Given the description of an element on the screen output the (x, y) to click on. 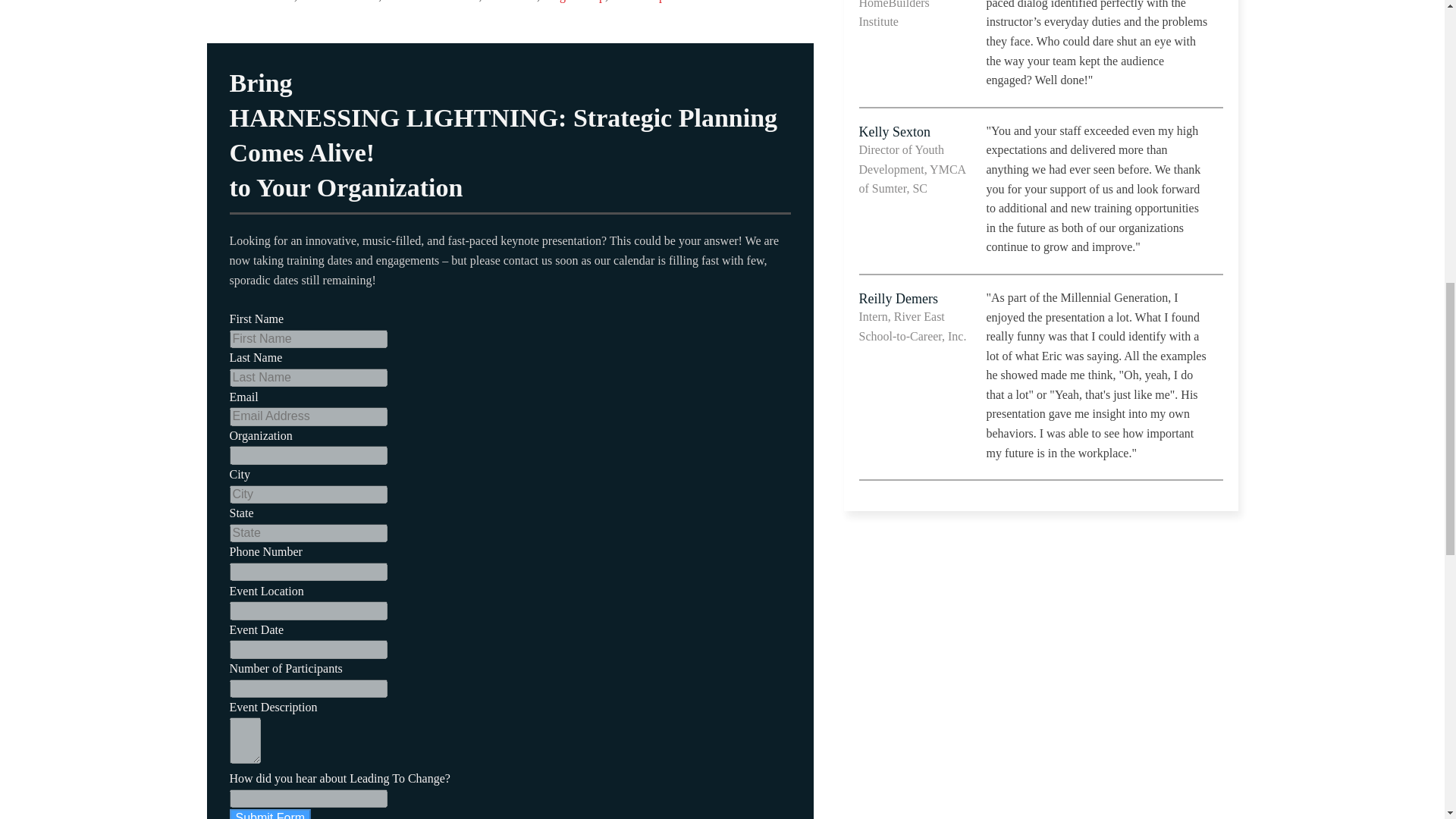
Communication (338, 1)
Business-Focused (250, 1)
Interactive (510, 1)
Large Group (574, 1)
Submit Form (269, 814)
Leadership (638, 1)
Cross-Generational (431, 1)
